Given the description of an element on the screen output the (x, y) to click on. 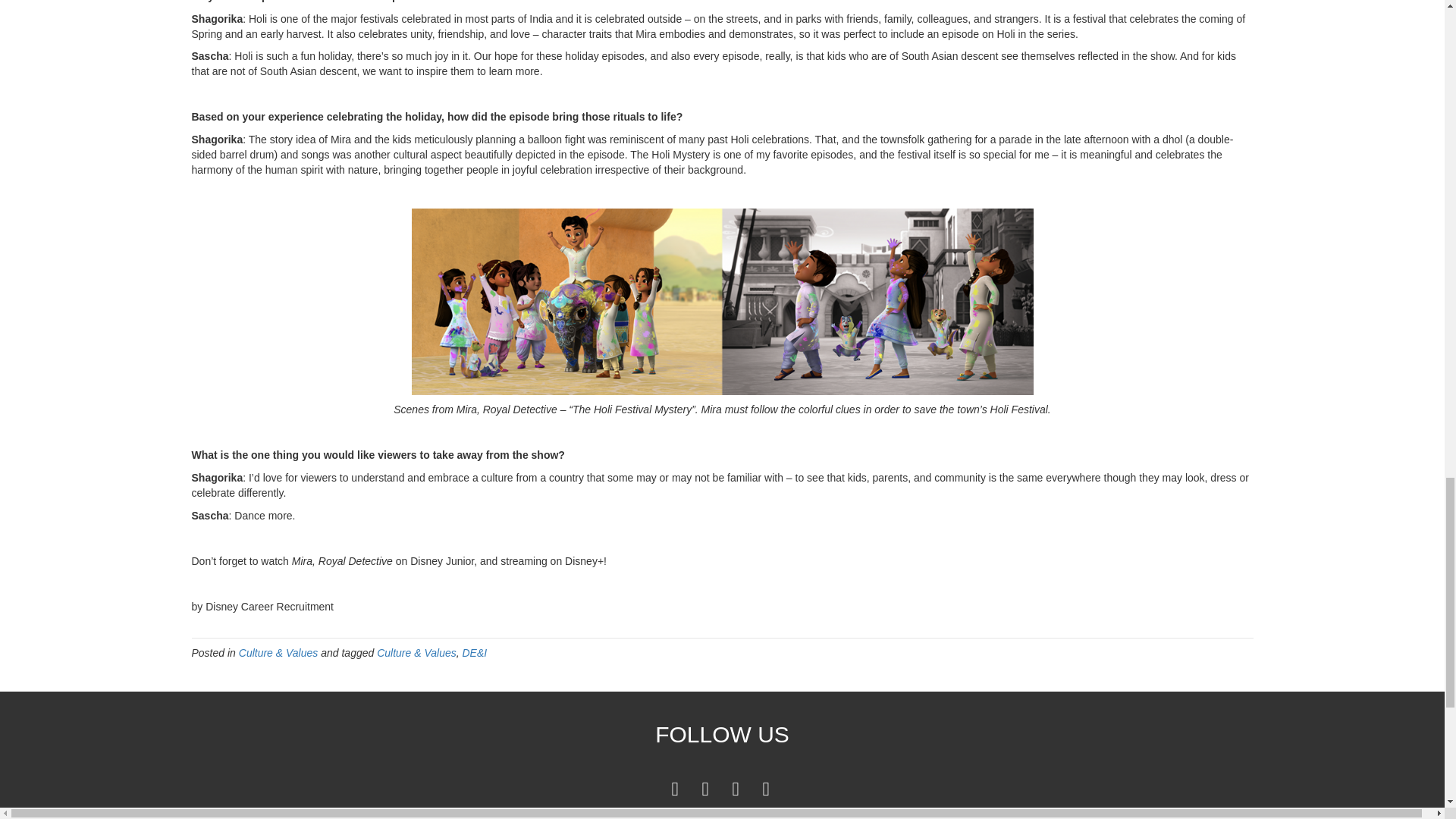
Instagram (765, 788)
YouTube (735, 788)
Facebook (674, 788)
LinkedIn (705, 788)
